Given the description of an element on the screen output the (x, y) to click on. 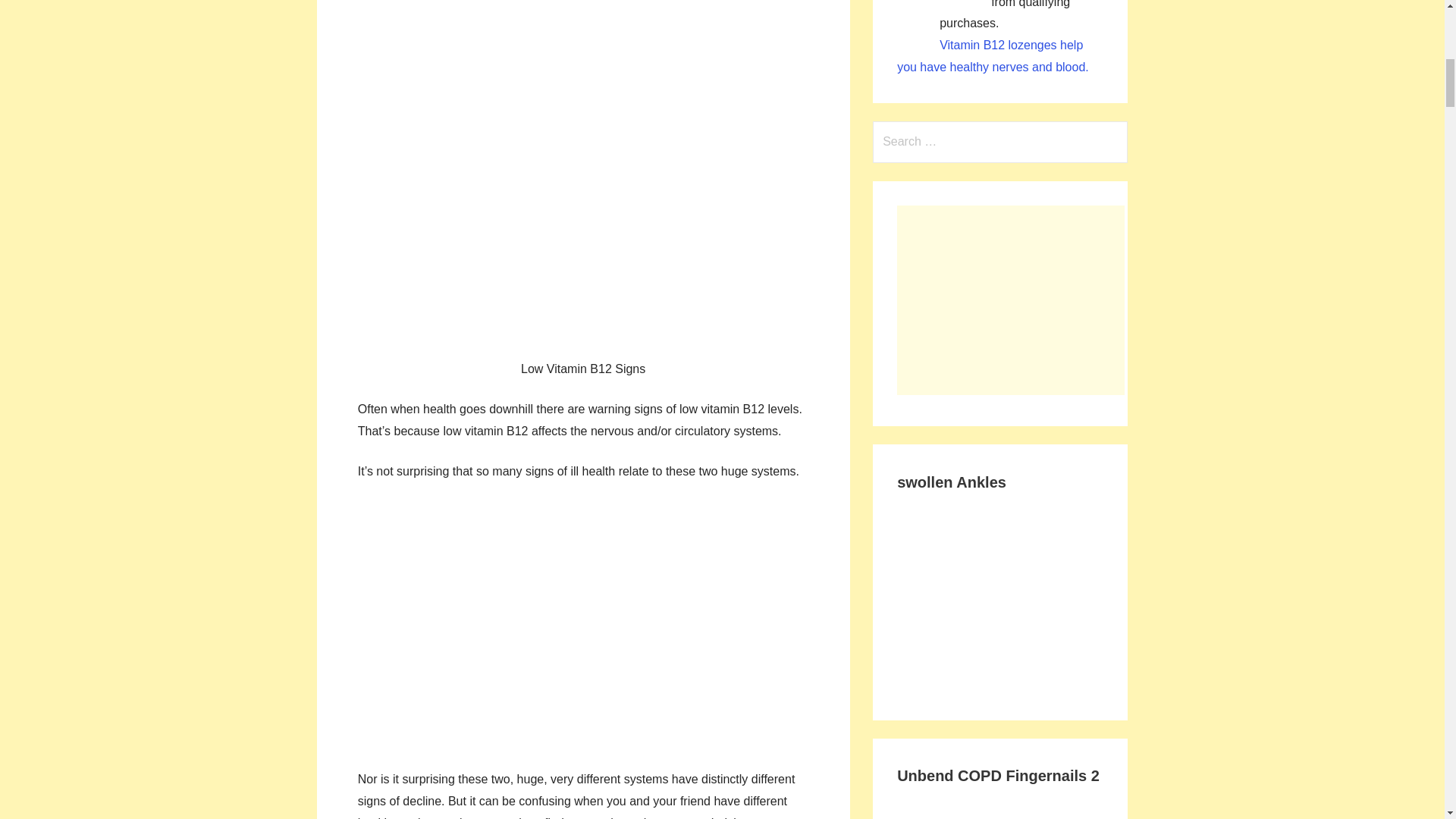
Unbend COPD Fingernails 2 (999, 807)
